Given the description of an element on the screen output the (x, y) to click on. 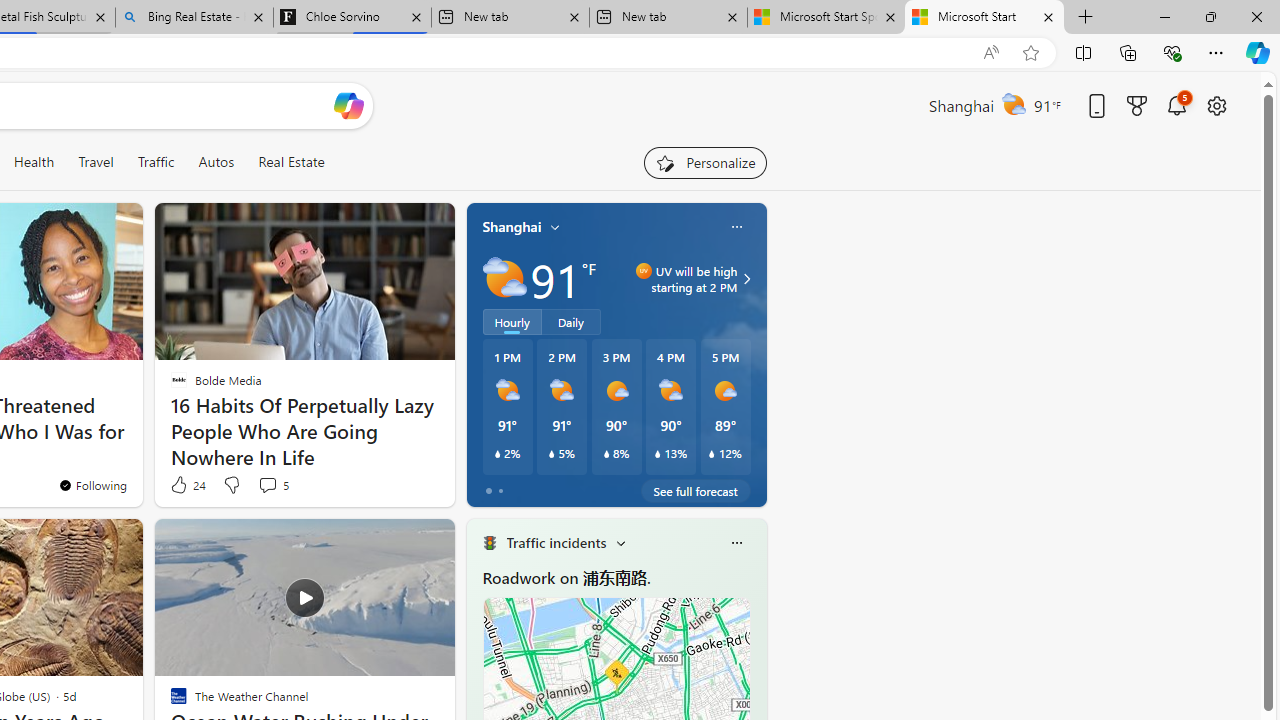
View comments 5 Comment (267, 485)
Partly sunny (504, 278)
24 Like (186, 484)
